Given the description of an element on the screen output the (x, y) to click on. 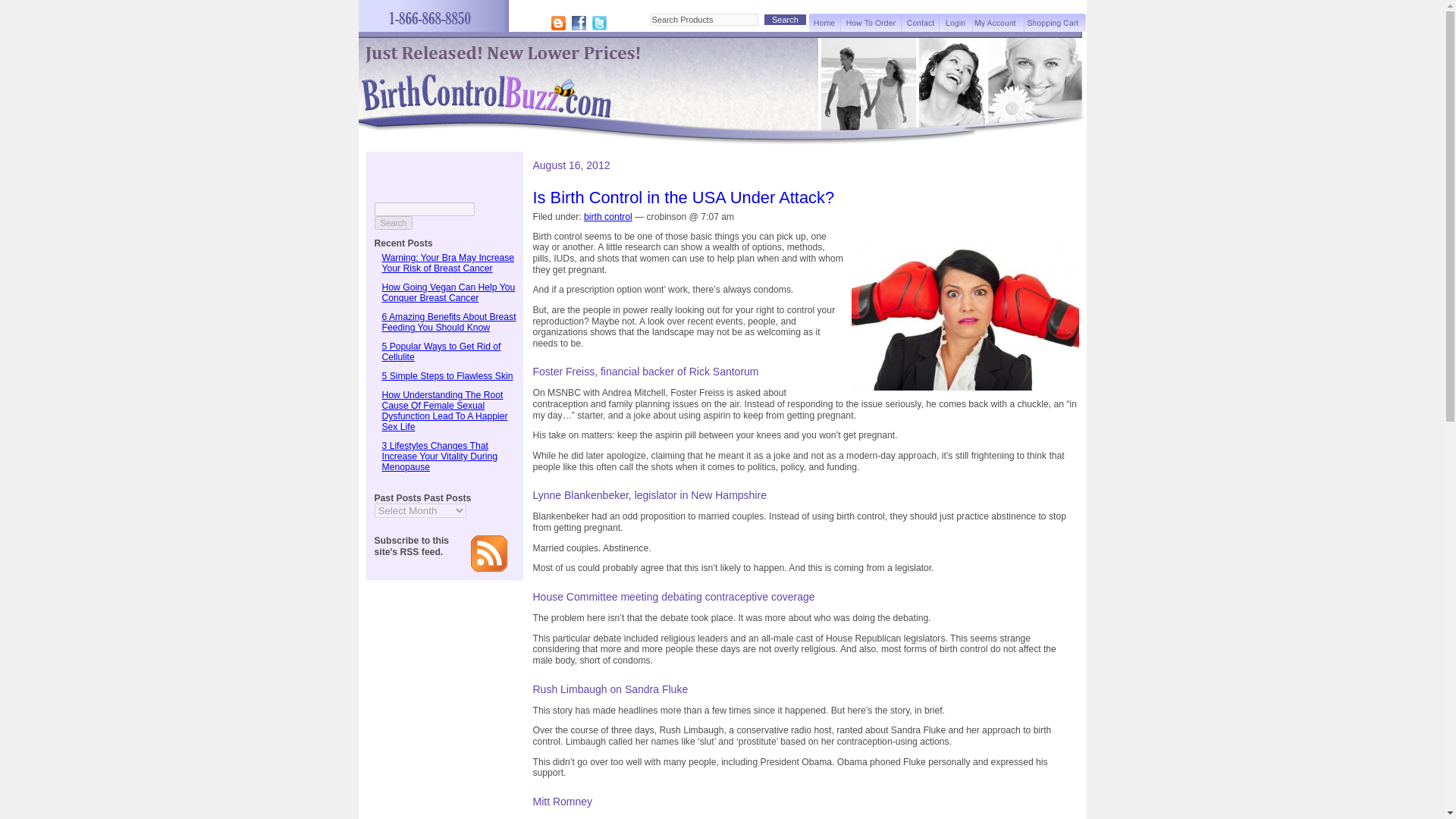
Search (785, 19)
6 Amazing Benefits About Breast Feeding You Should Know (448, 322)
Contact (920, 22)
Search (393, 223)
How To Order (870, 22)
Is Birth Control in the USA Under Attack? (683, 197)
5 Popular Ways to Get Rid of Cellulite (440, 351)
Search Products (703, 19)
